Given the description of an element on the screen output the (x, y) to click on. 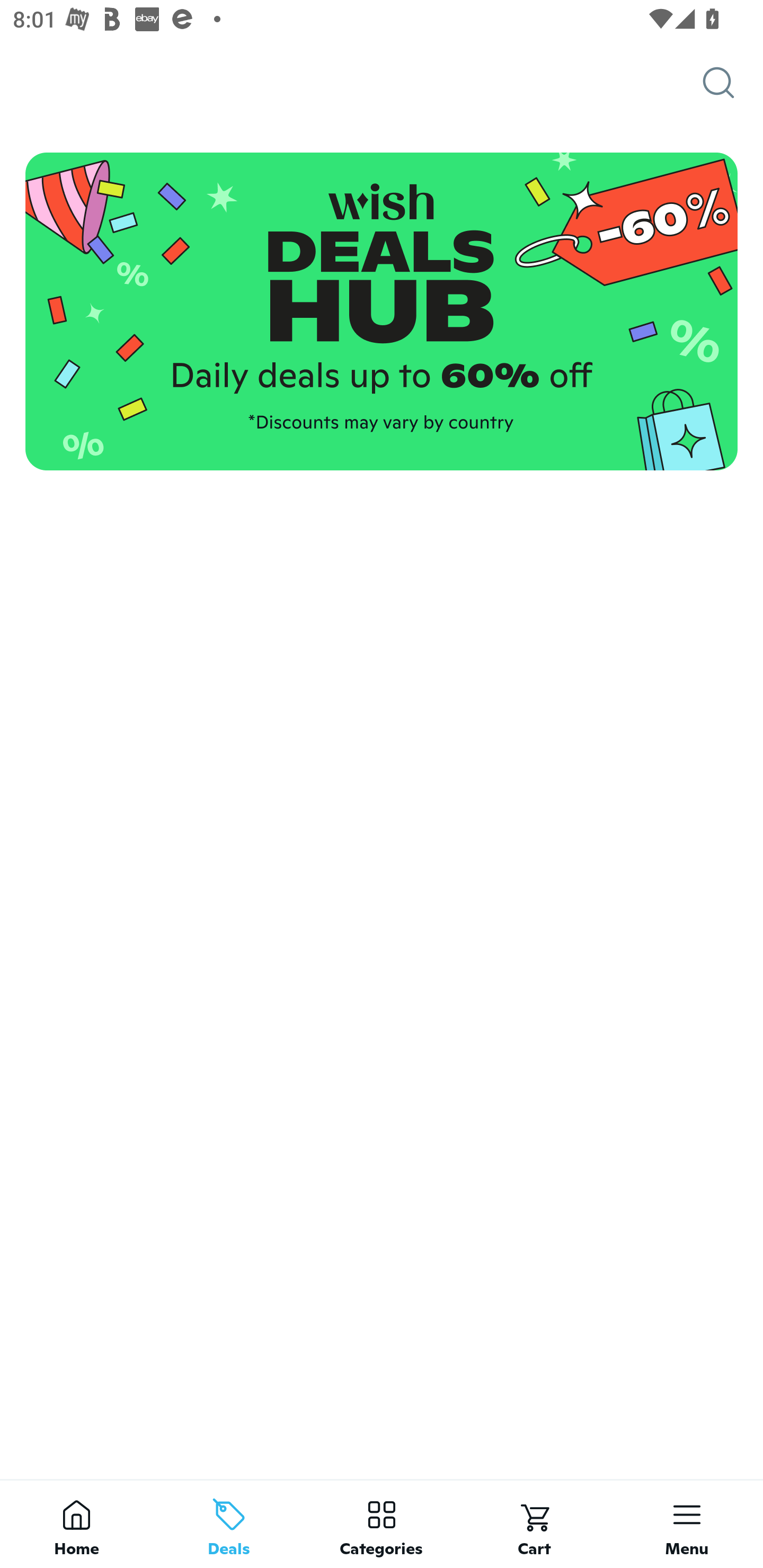
Search (732, 82)
Home (76, 1523)
Deals (228, 1523)
Categories (381, 1523)
Cart (533, 1523)
Menu (686, 1523)
